Given the description of an element on the screen output the (x, y) to click on. 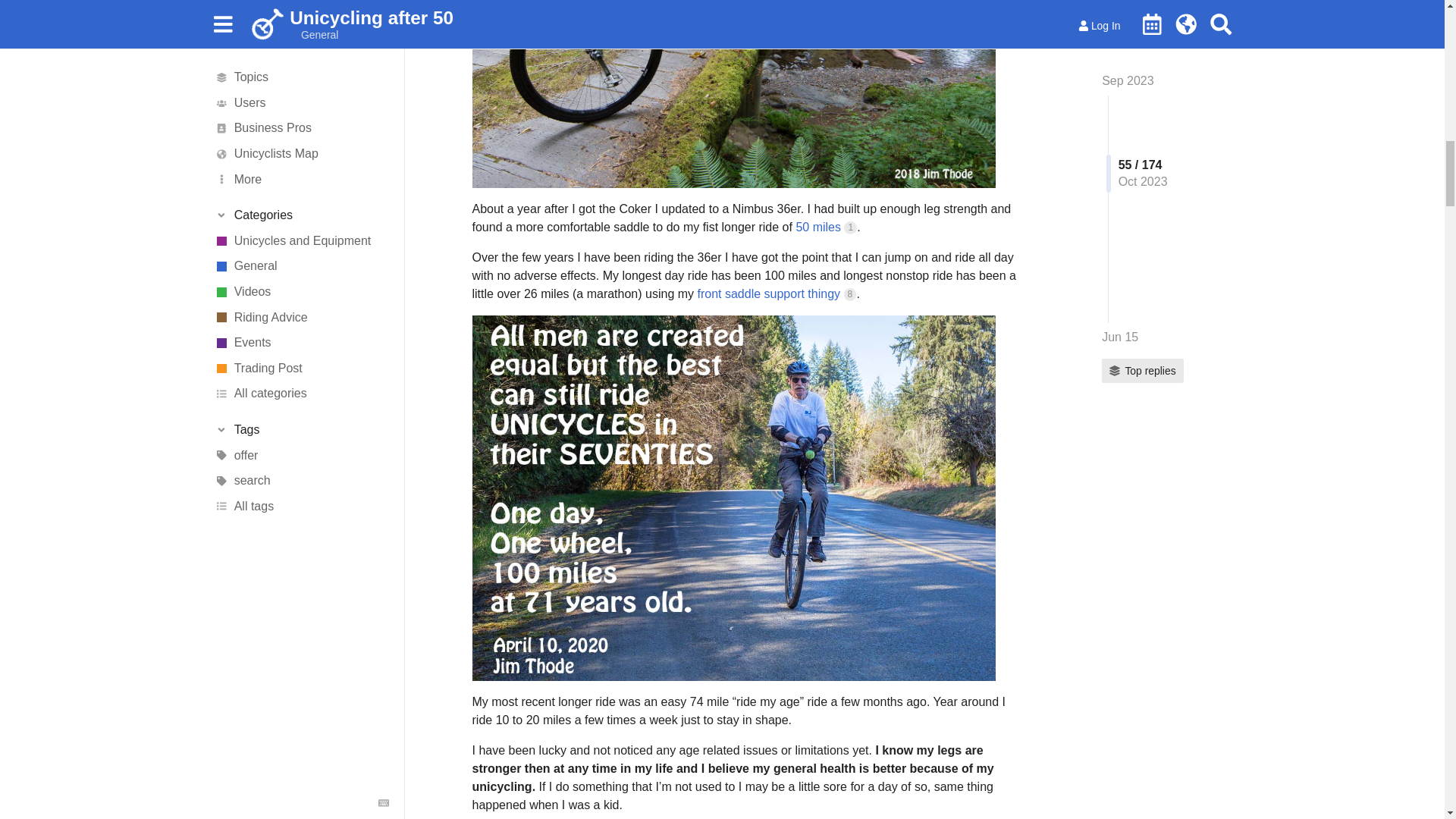
50 miles 1 (825, 226)
